Given the description of an element on the screen output the (x, y) to click on. 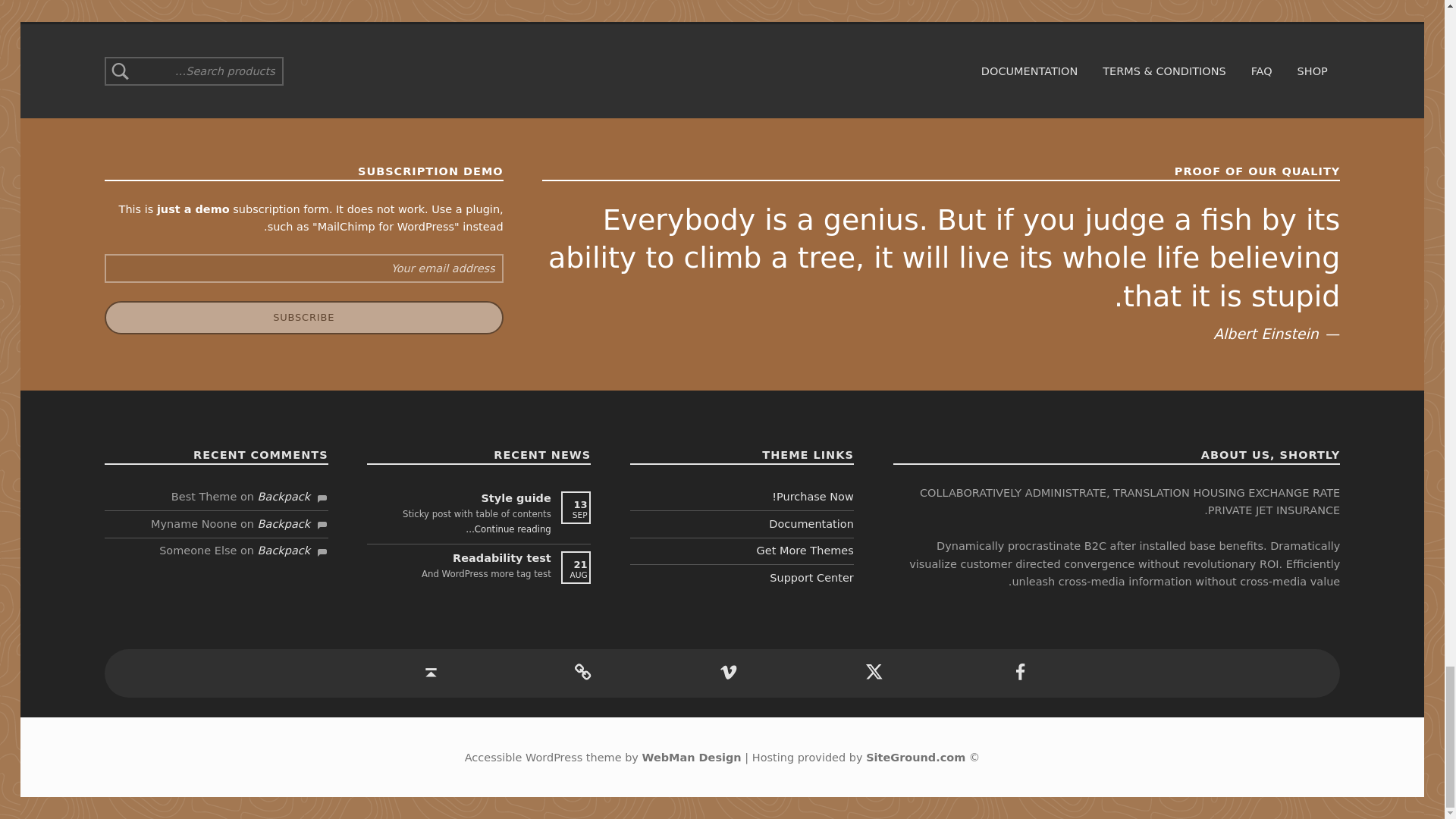
Subscribe (303, 317)
